Given the description of an element on the screen output the (x, y) to click on. 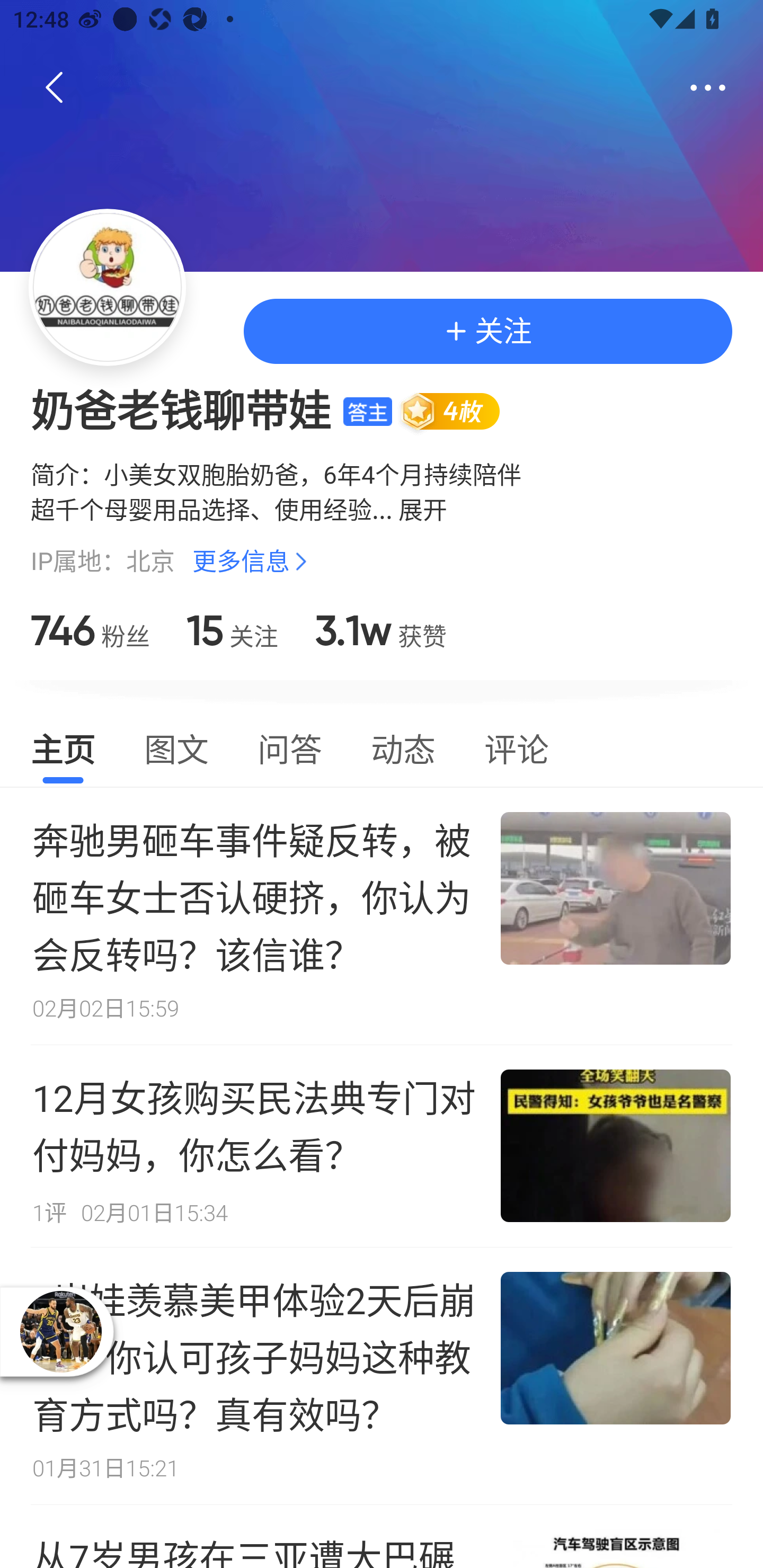
 返回 (54, 87)
 更多 (707, 87)
 关注 (487, 331)
4枚 (457, 411)
简介：小美女双胞胎奶爸，6年4个月持续陪伴
超千个母婴用品选择、使用经验... 展开   (381, 490)
746 粉丝 (90, 630)
15 关注 (232, 630)
3.1w 获赞 (380, 630)
主页 (62, 746)
图文 (176, 746)
问答 (289, 746)
动态 (403, 746)
评论 (516, 746)
奔驰男砸车事件疑反转，被砸车女士否认硬挤，你认为会反转吗？该信谁？ 02月02日15:59 (381, 915)
12月女孩购买民法典专门对付妈妈，你怎么看？ 1评 02月01日15:34 (381, 1145)
6岁娃羡慕美甲体验2天后崩溃，你认可孩子妈妈这种教育方式吗？真有效吗？ 01月31日15:21 (381, 1375)
播放器 (60, 1331)
